Given the description of an element on the screen output the (x, y) to click on. 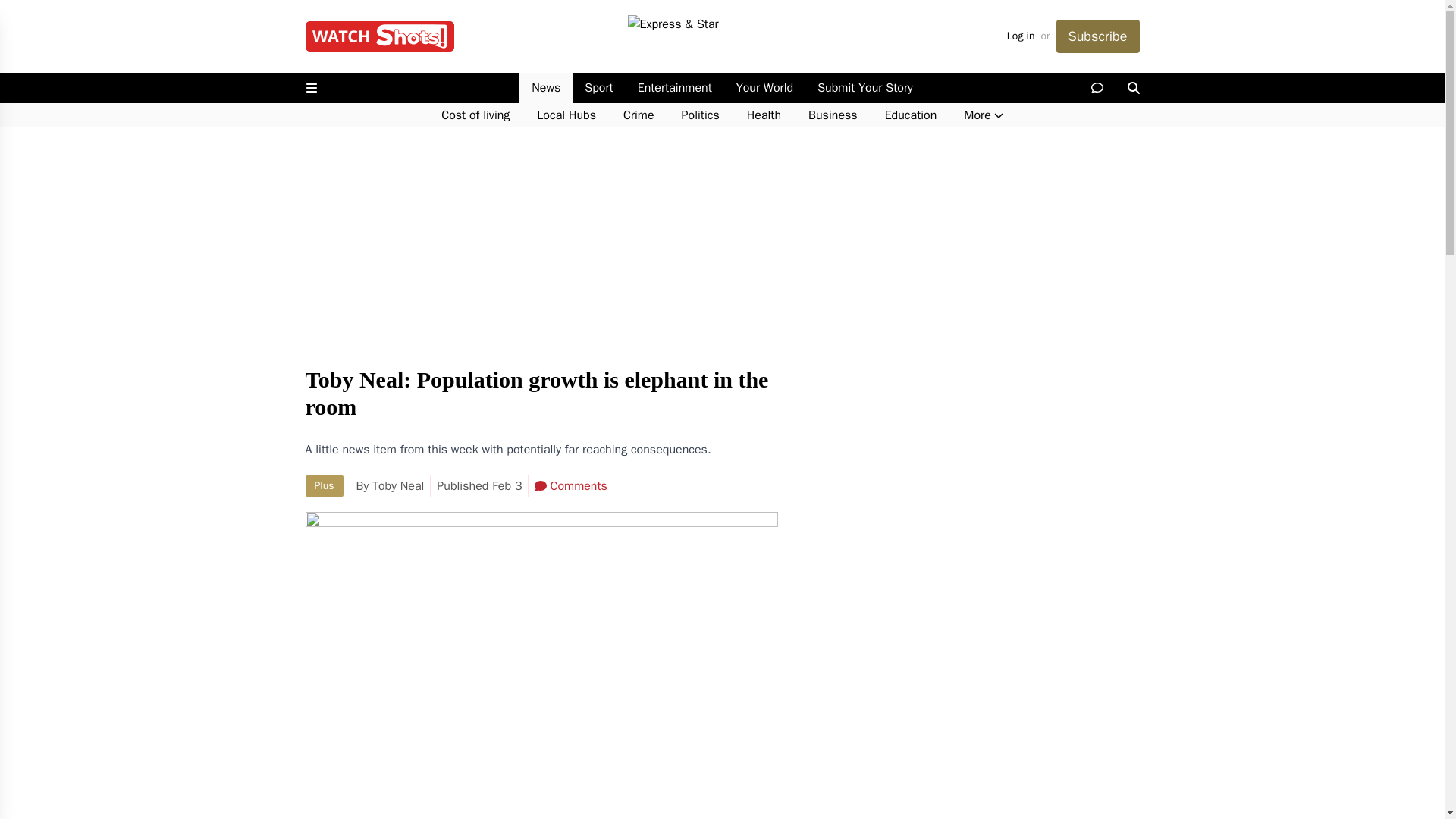
Entertainment (674, 87)
Subscribe (1096, 36)
Log in (1021, 36)
Business (832, 115)
Health (764, 115)
Politics (700, 115)
More (983, 115)
Your World (764, 87)
Education (910, 115)
Crime (638, 115)
